Given the description of an element on the screen output the (x, y) to click on. 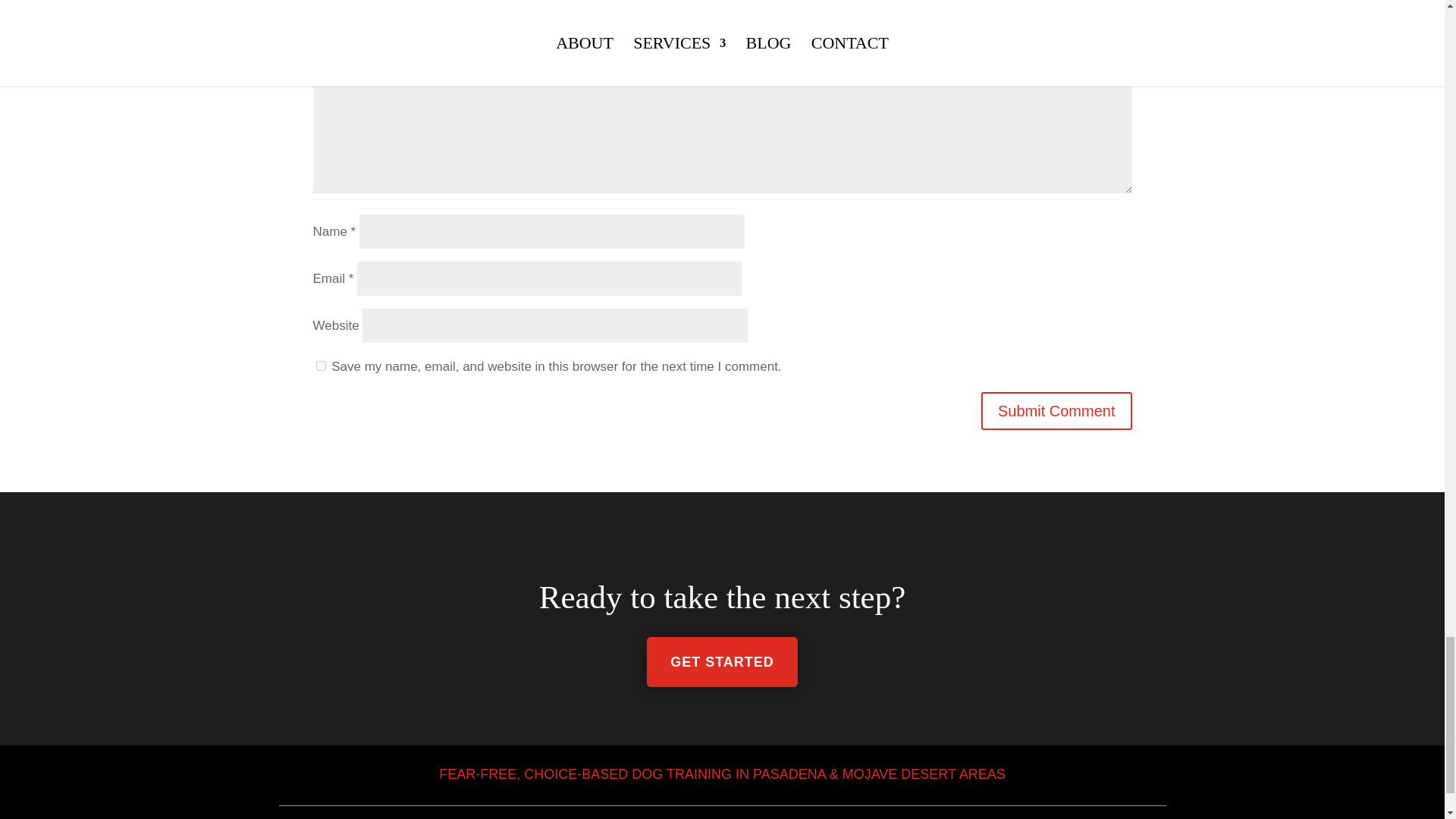
GET STARTED (721, 662)
yes (319, 366)
Submit Comment (1056, 410)
Submit Comment (1056, 410)
